Given the description of an element on the screen output the (x, y) to click on. 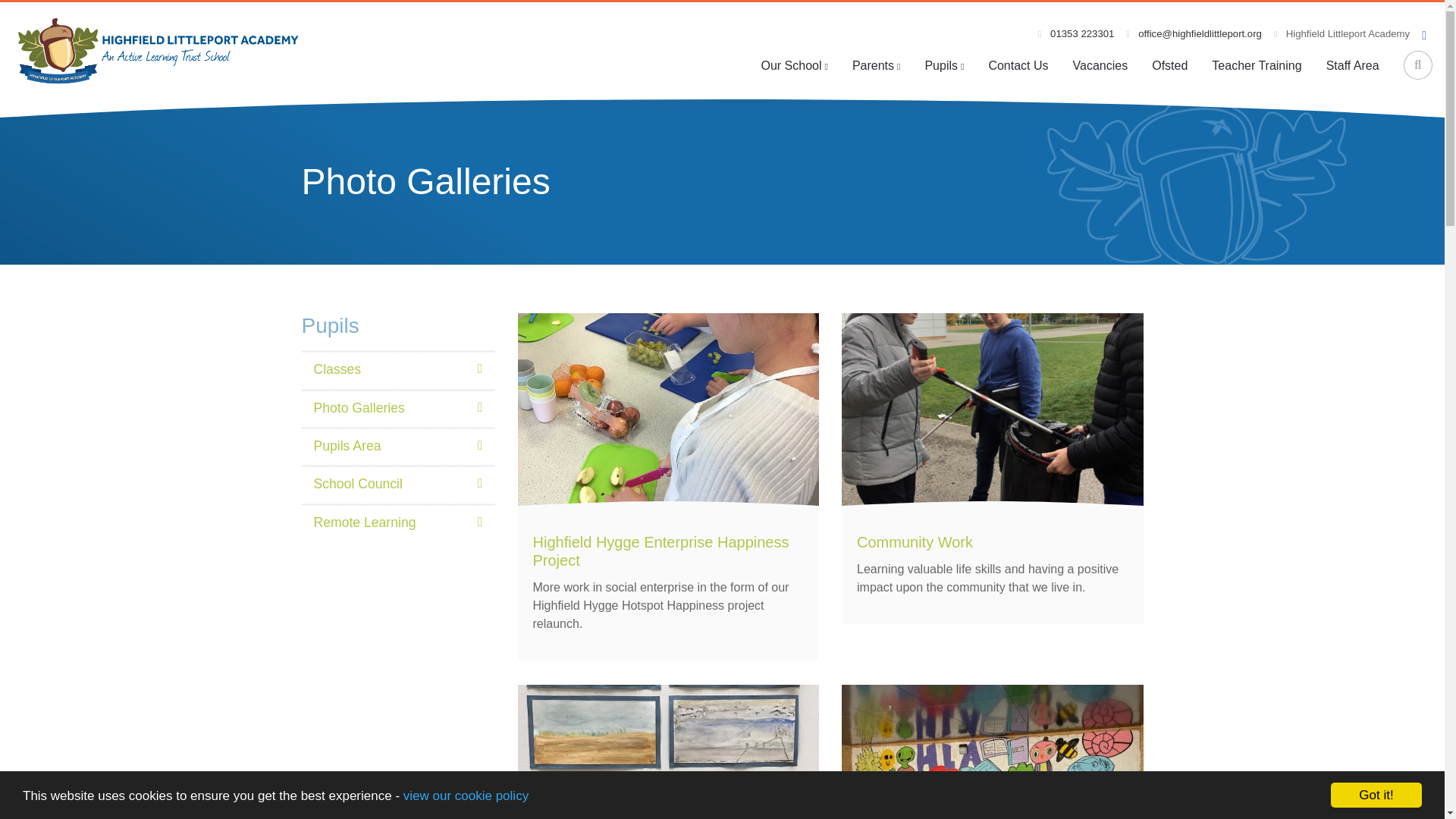
Ofsted (1169, 65)
Facebook (930, 630)
01353 223301 (1075, 33)
Contact Us (1017, 65)
Vacancies (1100, 65)
Parents (876, 65)
Teacher Training (1256, 65)
Our School (794, 65)
Pupils (943, 65)
